Given the description of an element on the screen output the (x, y) to click on. 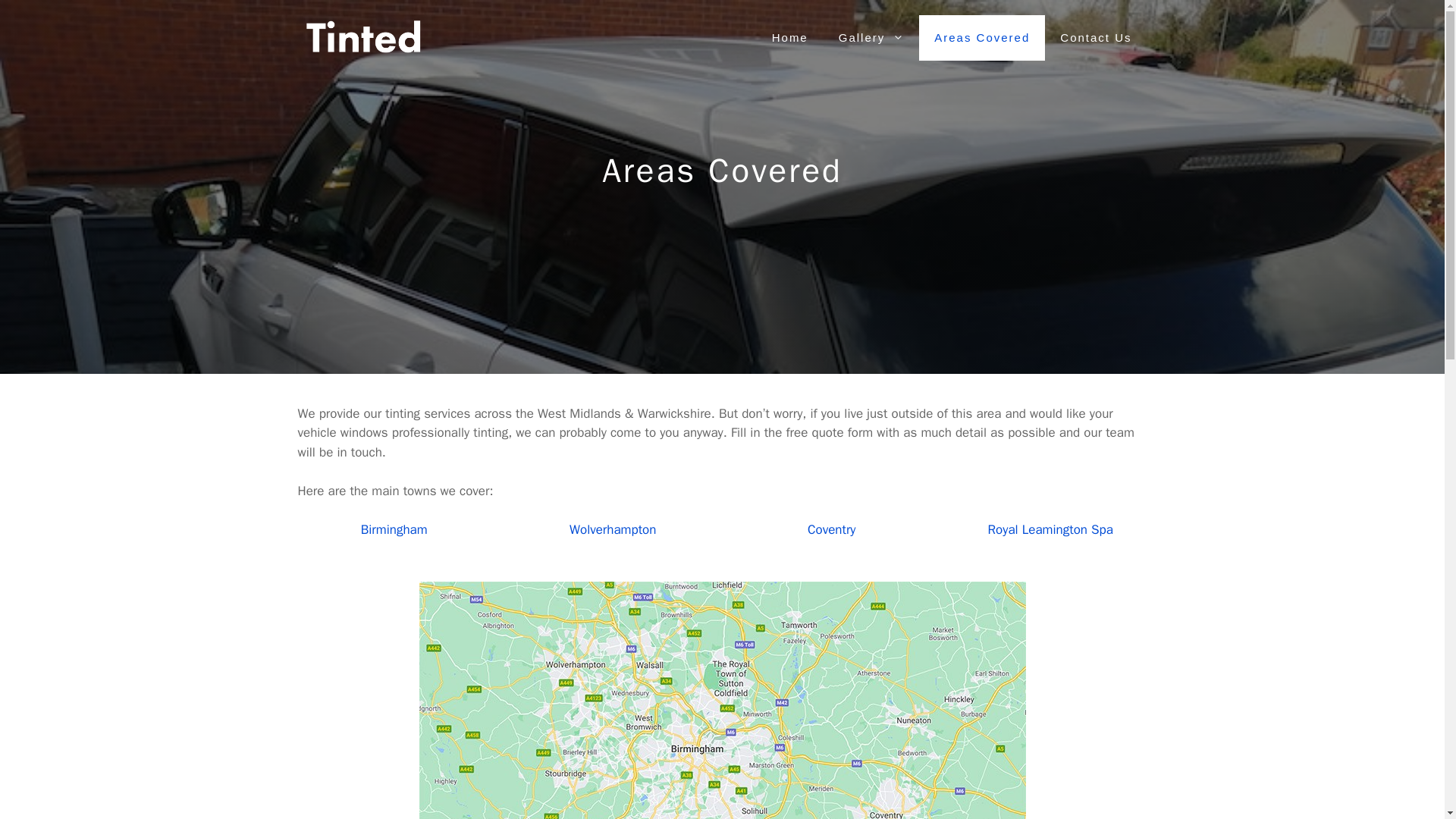
Gallery (872, 37)
Areas Covered (981, 37)
Wolverhampton (612, 529)
Contact Us (1096, 37)
Royal Leamington Spa (1050, 529)
Birmingham (394, 529)
Home (790, 37)
Coventry (832, 529)
